Given the description of an element on the screen output the (x, y) to click on. 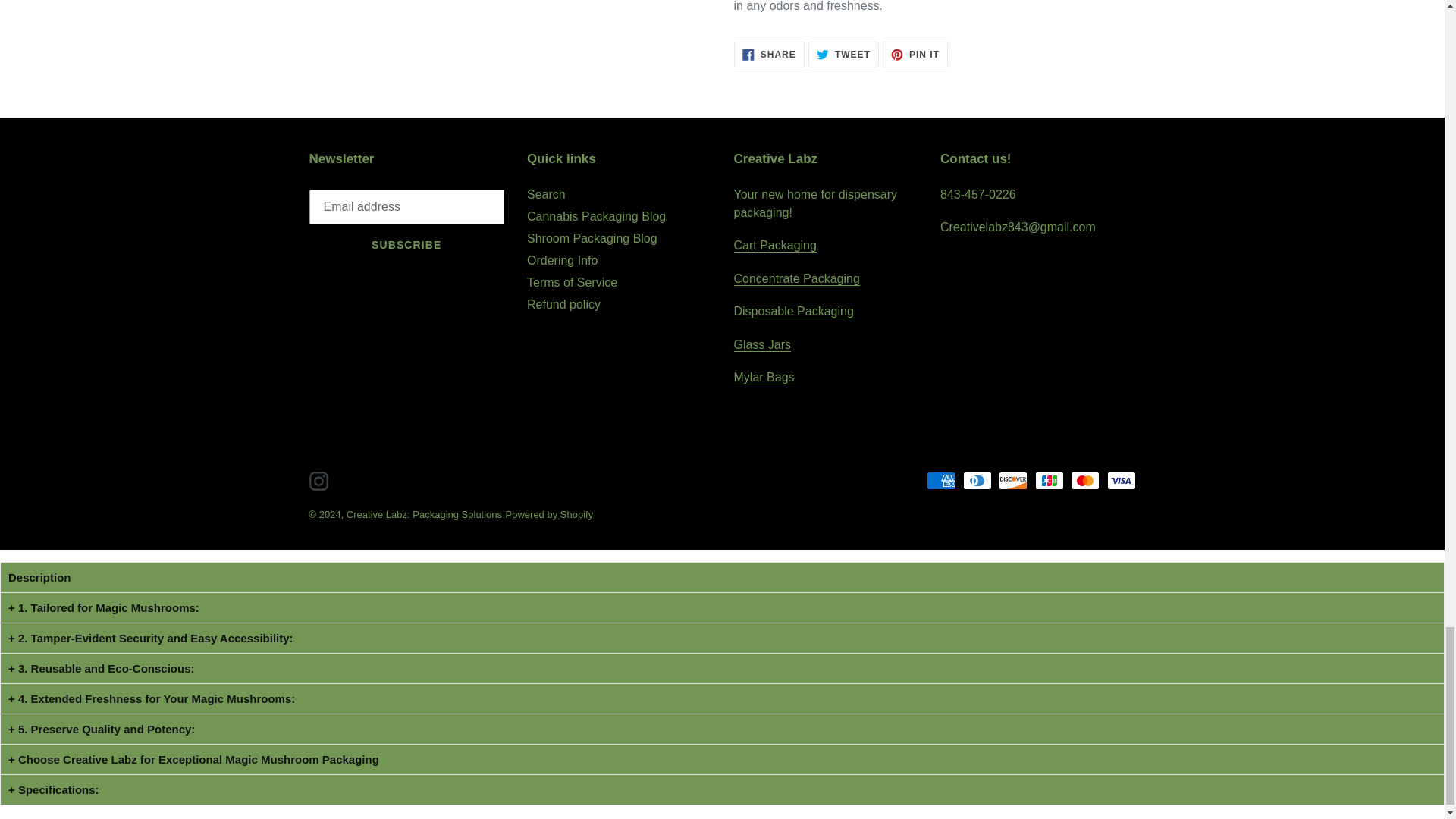
Cartridge Packaging (774, 245)
Concentrate Packaging (796, 278)
Disposable Packaging (793, 311)
